Given the description of an element on the screen output the (x, y) to click on. 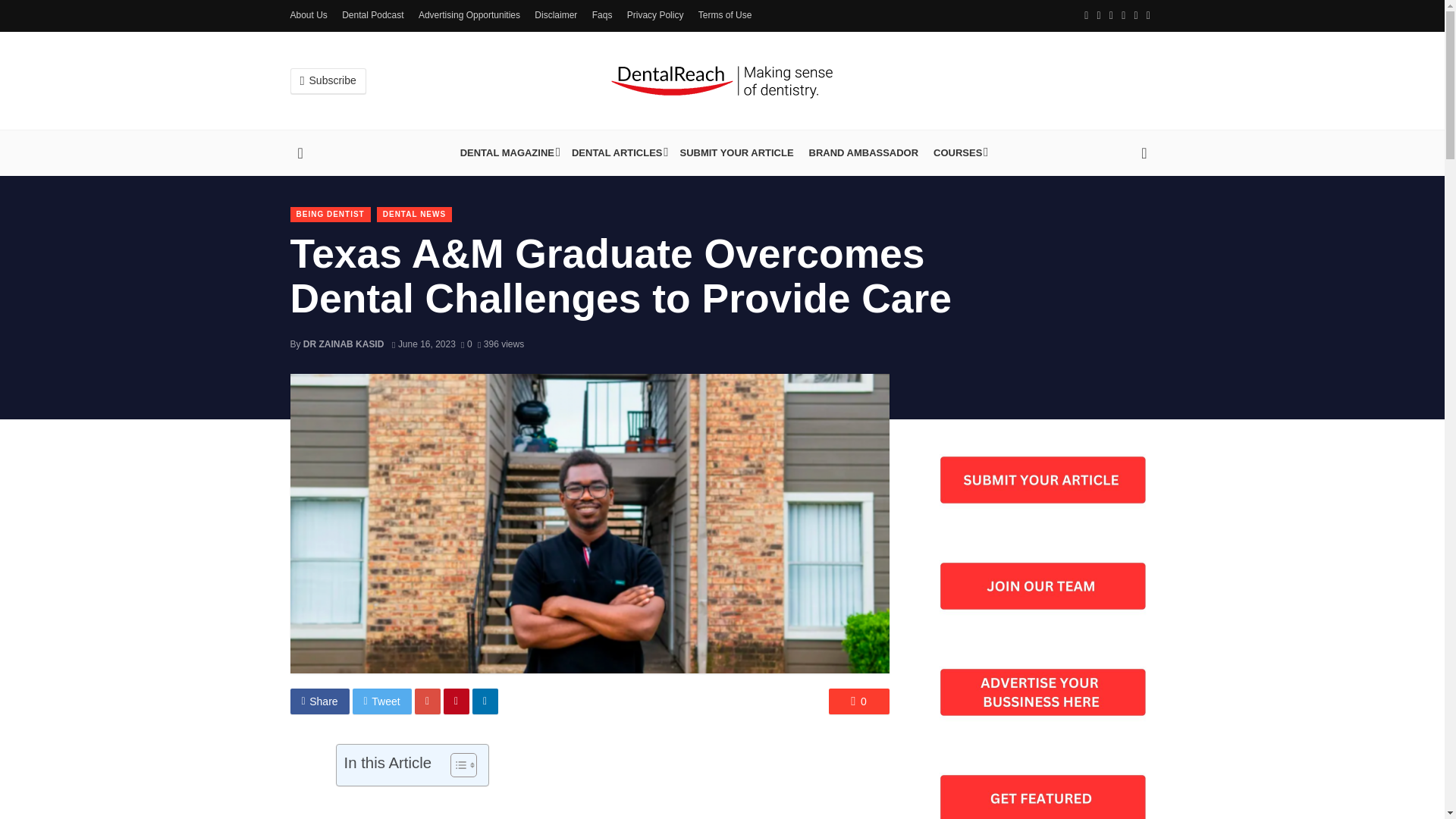
Dental Podcast (372, 14)
DENTAL ARTICLES (618, 153)
Publication (508, 153)
Terms of Use (725, 14)
Share on Twitter (382, 701)
Privacy Policy (655, 14)
June 16, 2023 at 5:57 am (423, 344)
Posts by Dr Zainab Kasid (343, 344)
Share on Facebook (319, 701)
DENTAL MAGAZINE (508, 153)
